Given the description of an element on the screen output the (x, y) to click on. 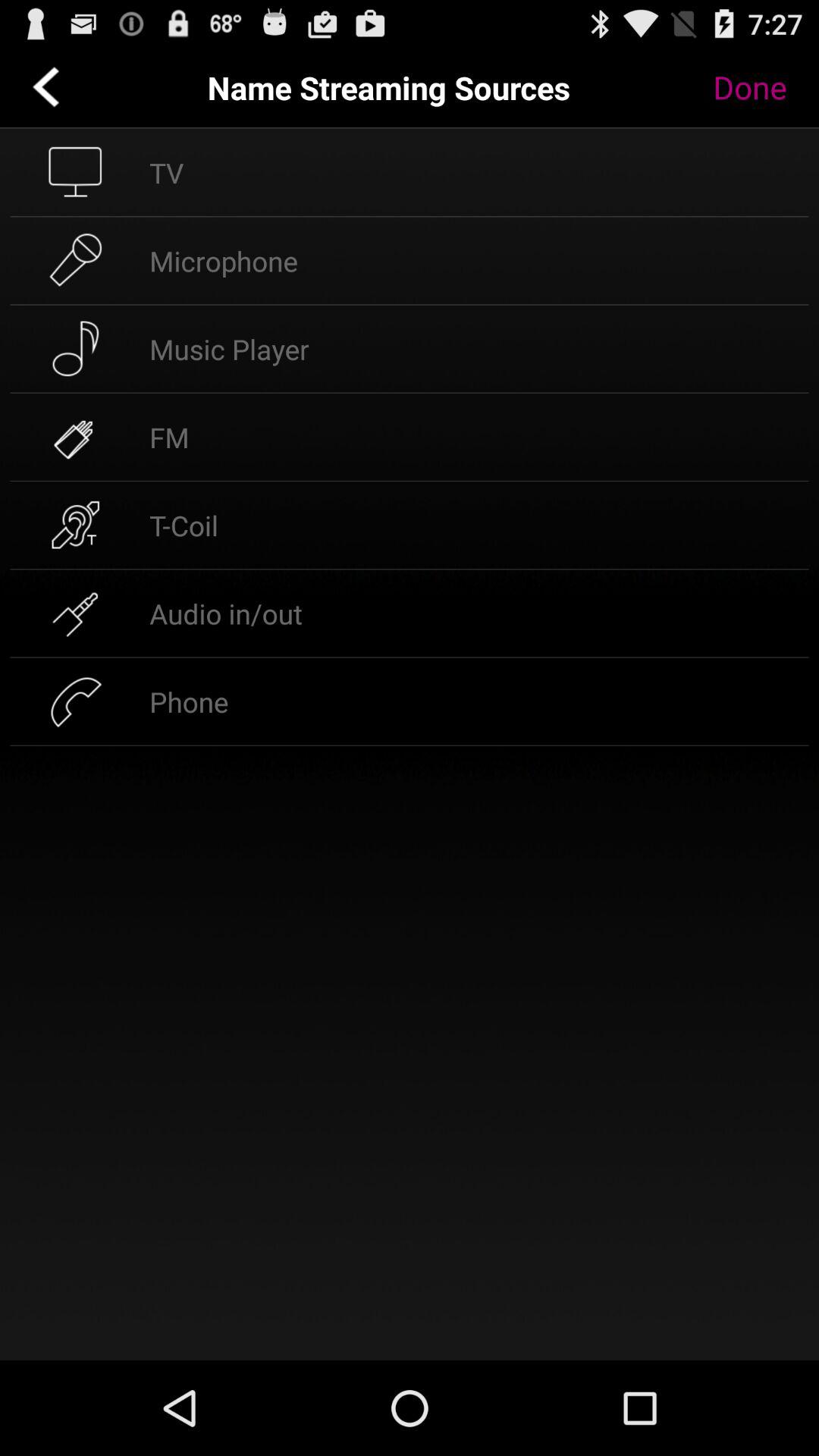
click app to the right of the name streaming sources app (760, 87)
